Given the description of an element on the screen output the (x, y) to click on. 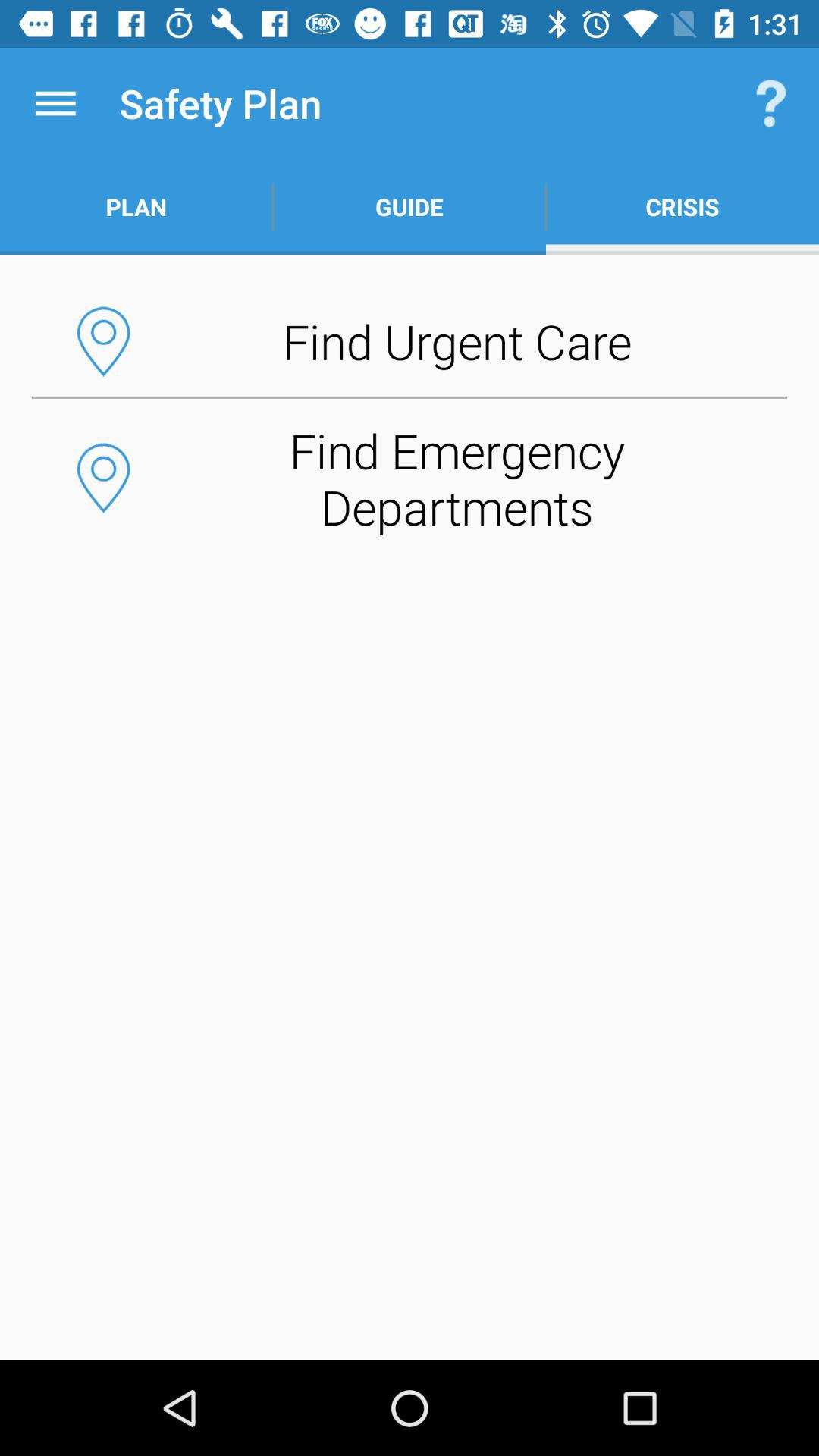
launch app to the right of guide item (771, 103)
